Given the description of an element on the screen output the (x, y) to click on. 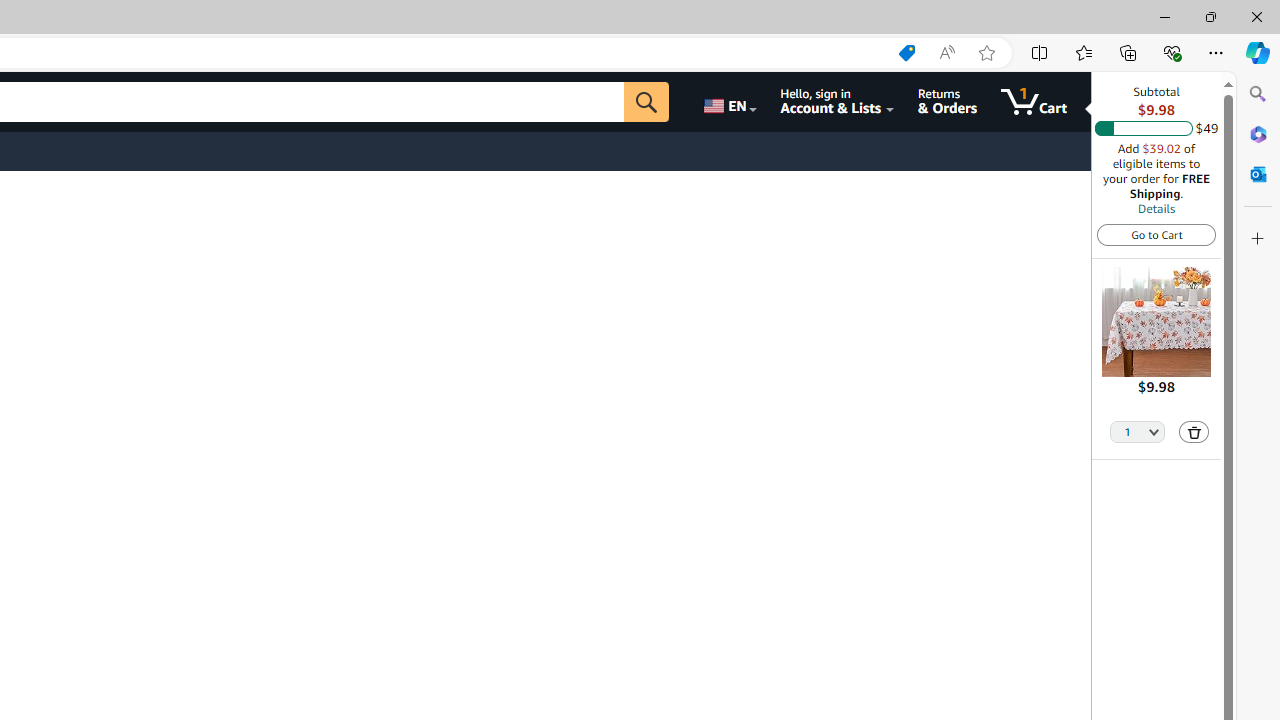
Quantity Selector (1137, 430)
Restore (1210, 16)
Outlook (1258, 174)
Read aloud this page (Ctrl+Shift+U) (946, 53)
Split screen (1039, 52)
Search (1258, 94)
Go (646, 101)
Go to Cart (1156, 234)
Minimize (1164, 16)
Favorites (1083, 52)
Browser essentials (1171, 52)
Copilot (Ctrl+Shift+.) (1258, 52)
